Given the description of an element on the screen output the (x, y) to click on. 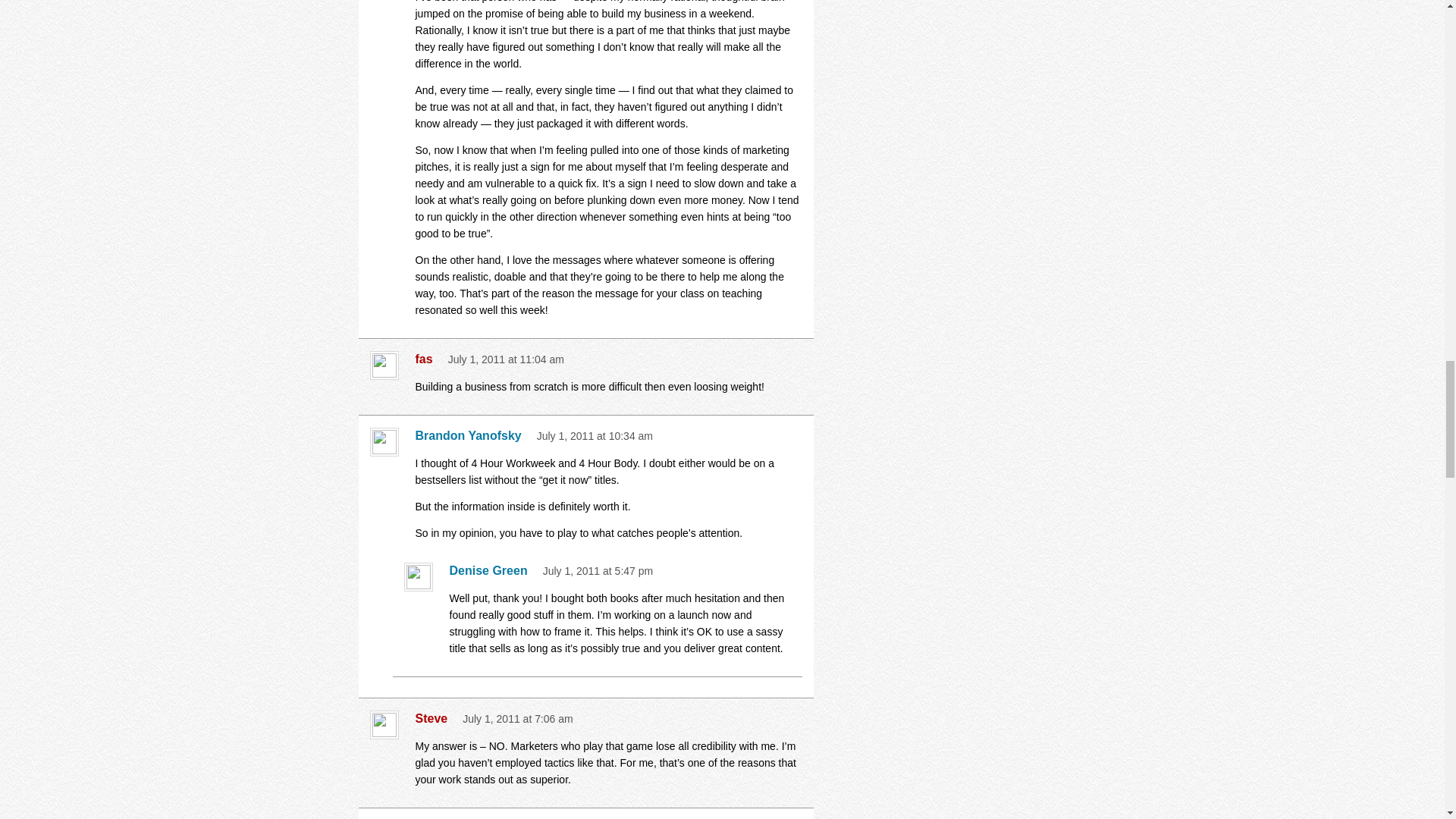
July 1, 2011 at 7:06 am (518, 718)
July 1, 2011 at 10:34 am (594, 435)
Brandon Yanofsky (471, 435)
Denise Green (491, 570)
Steve (434, 718)
fas (427, 359)
July 1, 2011 at 11:04 am (506, 358)
July 1, 2011 at 5:47 pm (598, 571)
